Given the description of an element on the screen output the (x, y) to click on. 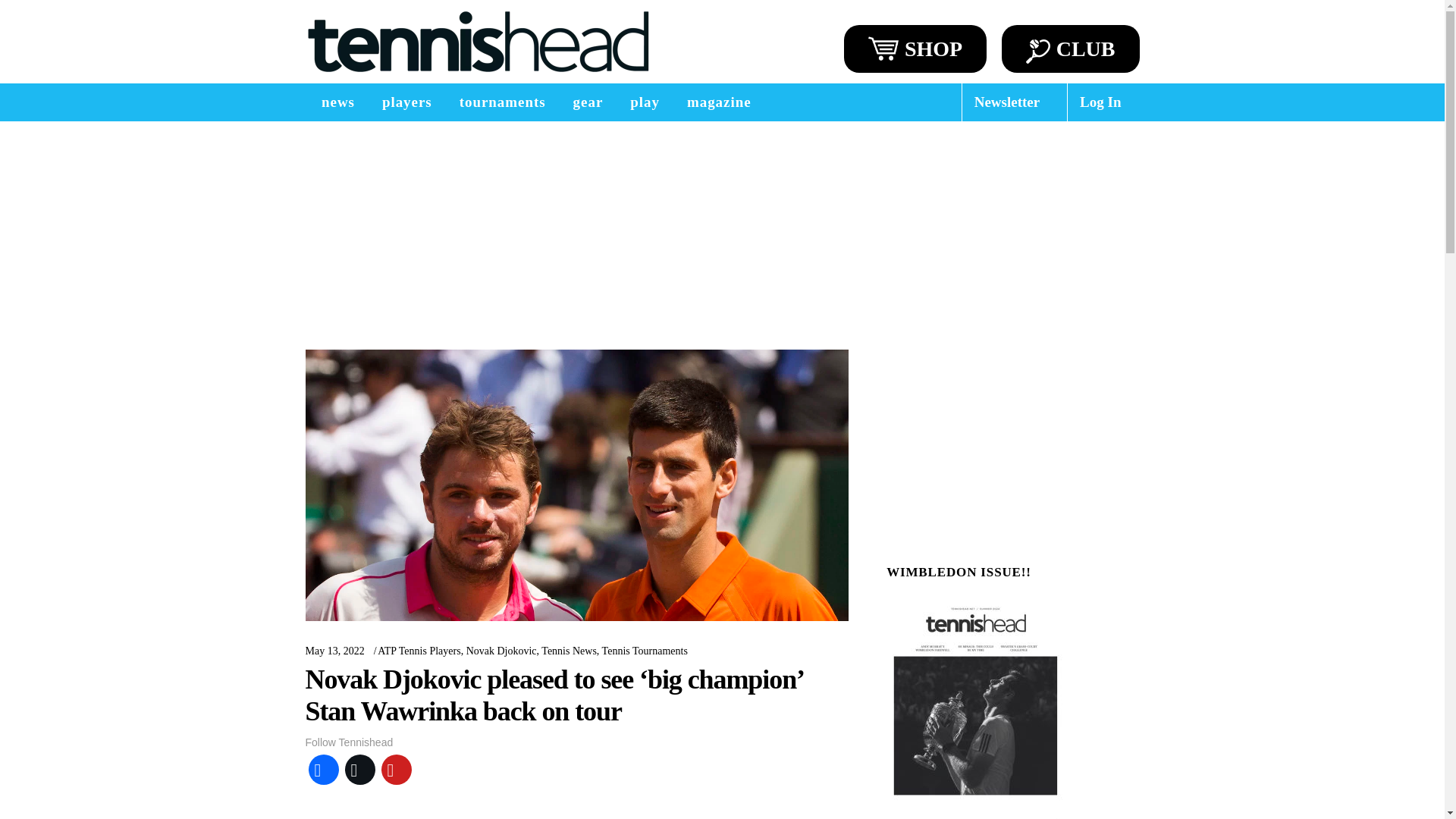
CLUB (1070, 48)
gear (588, 102)
play (643, 102)
players (406, 102)
SHOP (915, 48)
YouTube (395, 769)
Facebook (322, 769)
Facebook (322, 769)
YouTube (395, 769)
tournaments (502, 102)
news (337, 102)
